Given the description of an element on the screen output the (x, y) to click on. 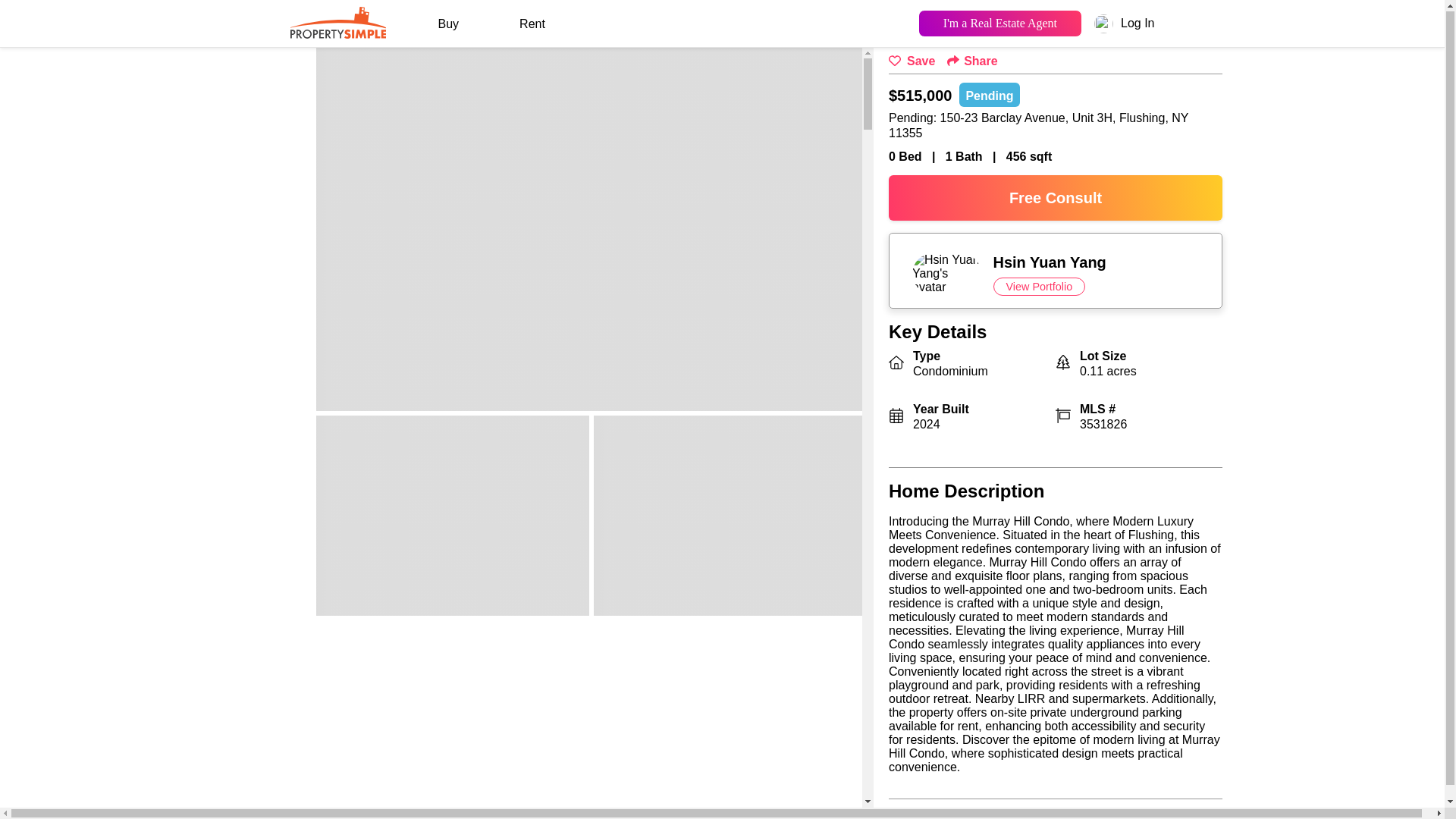
PropertySimple's Logo (337, 32)
I'm a Real Estate Agent (999, 22)
Free Consult (1055, 197)
Buy (1055, 274)
Rent (448, 23)
View Portfolio (532, 23)
PropertySimple's Logo (1039, 286)
